Given the description of an element on the screen output the (x, y) to click on. 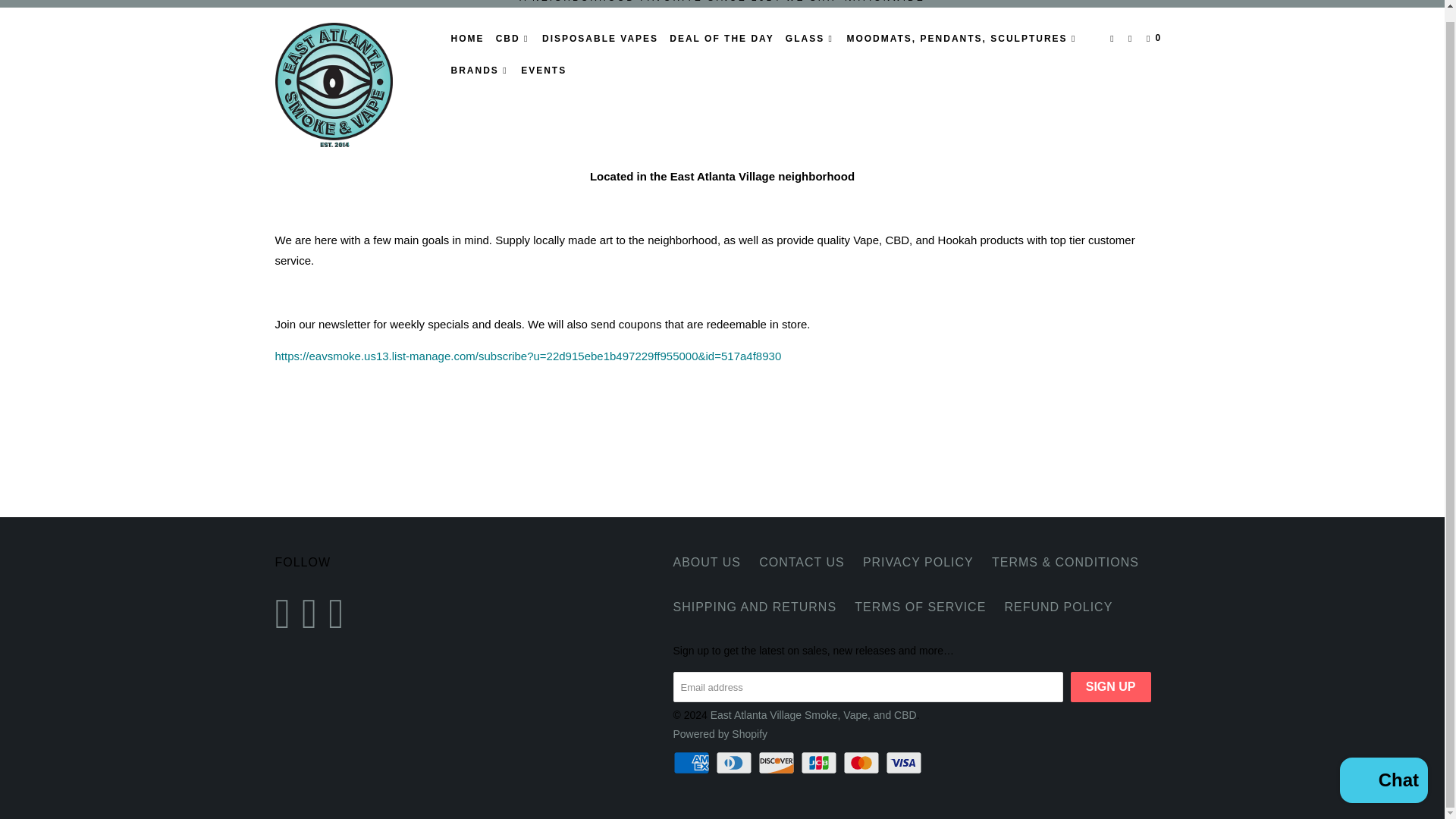
Join our newsletter (527, 355)
Sign Up (1110, 686)
Mastercard (862, 762)
Shopify online store chat (1383, 770)
East Atlanta Village Smoke, Vape, and CBD (352, 84)
JCB (820, 762)
Visa (904, 762)
Discover (777, 762)
American Express (692, 762)
Diners Club (735, 762)
